Given the description of an element on the screen output the (x, y) to click on. 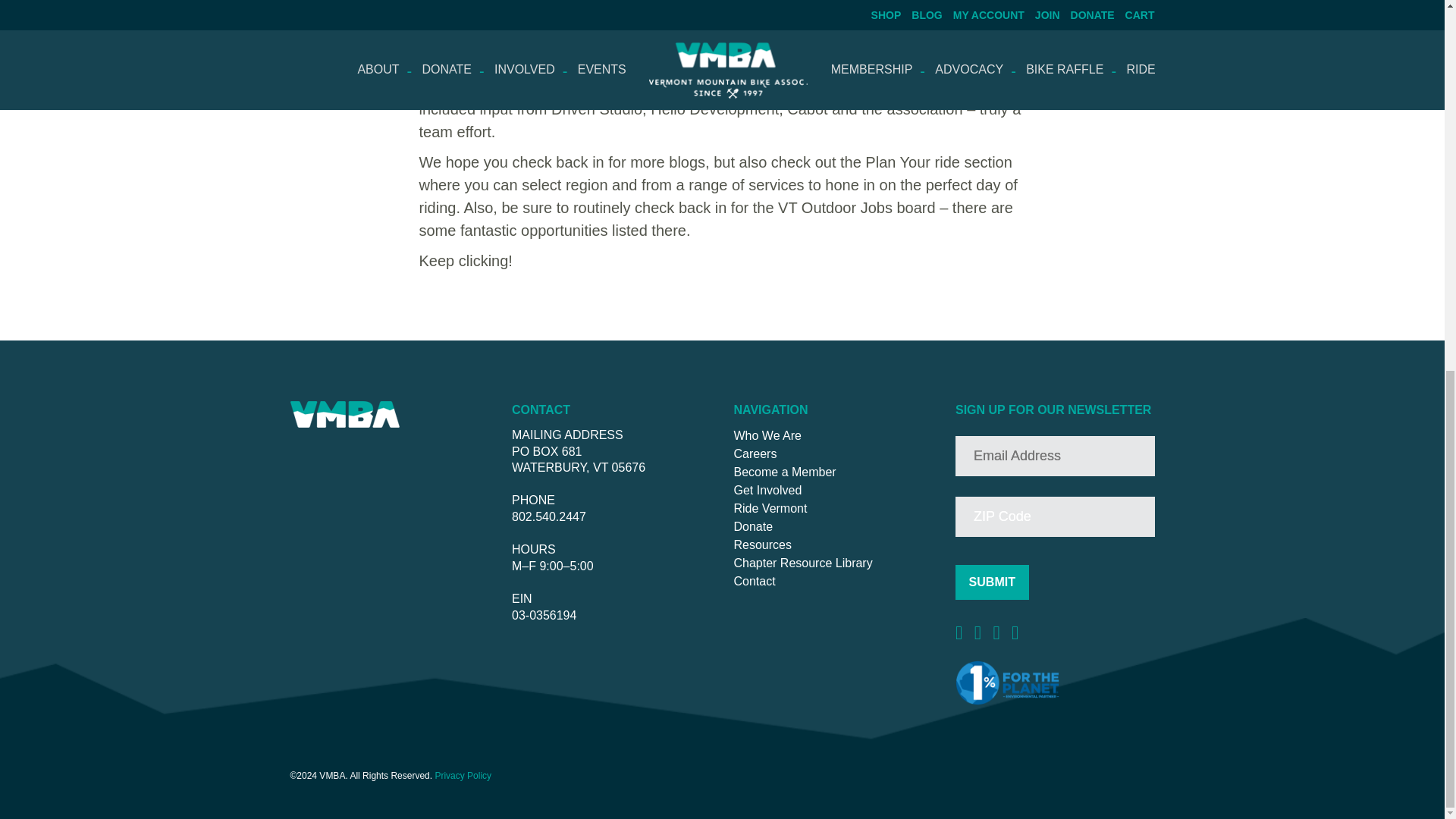
Submit (992, 582)
